Given the description of an element on the screen output the (x, y) to click on. 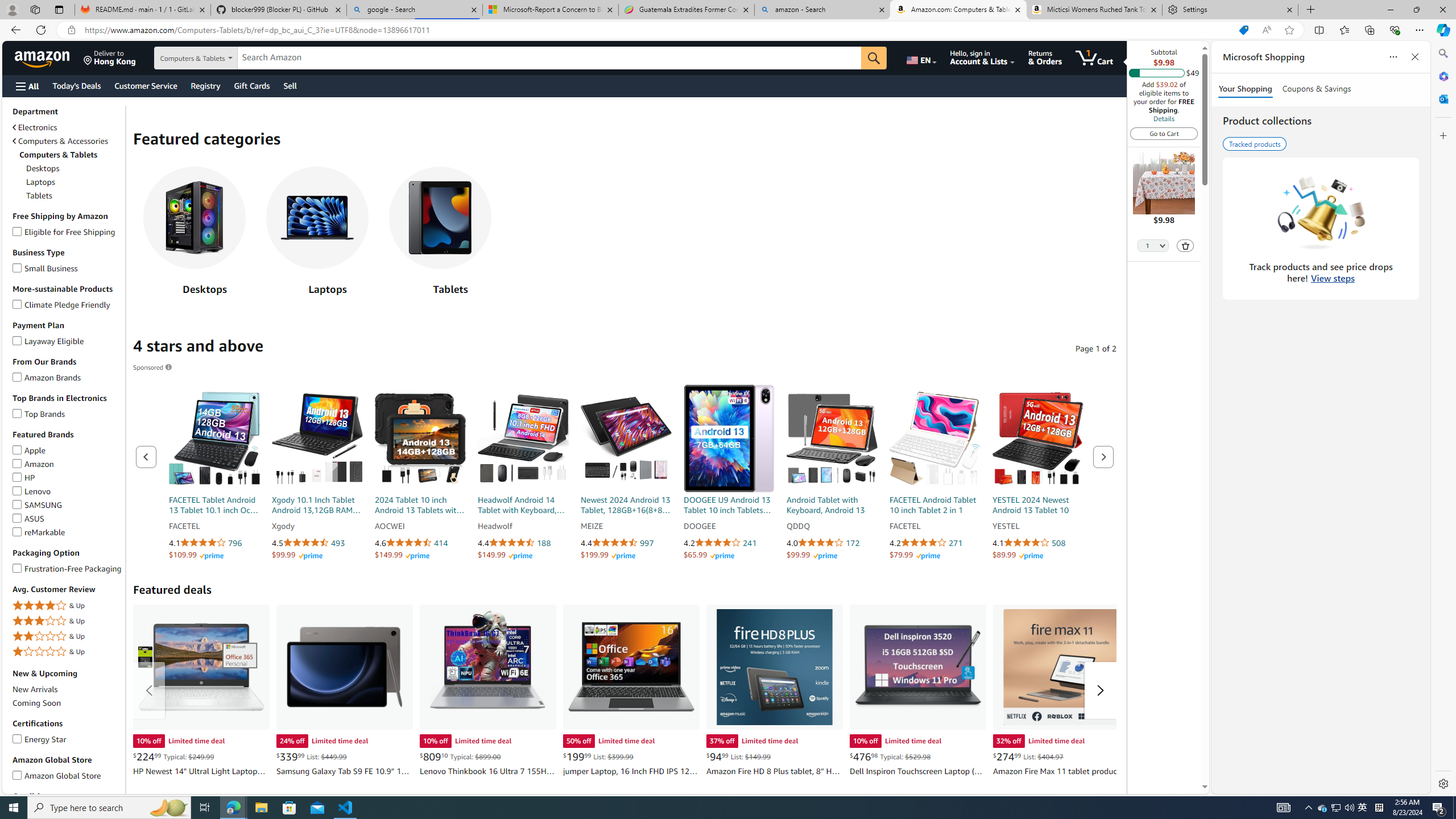
Amazon Global Store (17, 773)
ASUS (17, 515)
FACETEL (934, 526)
Computers & Tablets (67, 154)
$199.99 Amazon Prime (608, 554)
4.5 out of 5 stars 493 ratings (317, 543)
AOCWEI (419, 526)
Choose a language for shopping. (920, 57)
